Given the description of an element on the screen output the (x, y) to click on. 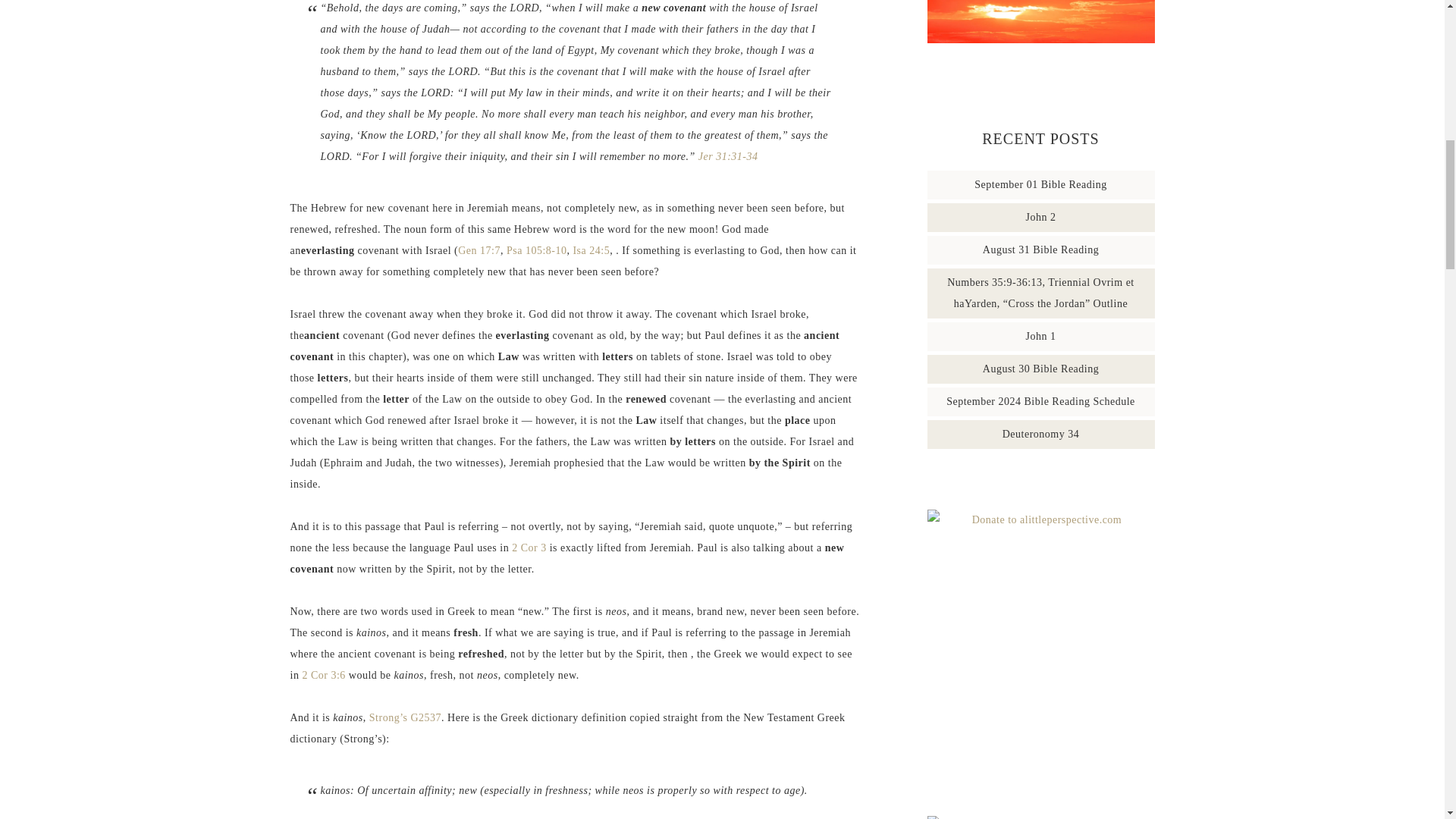
Jer 31:31-34 (728, 156)
August 31 Bible Reading (1040, 249)
Isa 24:5 (591, 250)
Psa 105:8-10 (536, 250)
2 Cor 3:6 (323, 674)
September 01 Bible Reading (1040, 184)
Gen 17:7 (479, 250)
2 Cor 3 (529, 547)
John 2 (1041, 216)
